Given the description of an element on the screen output the (x, y) to click on. 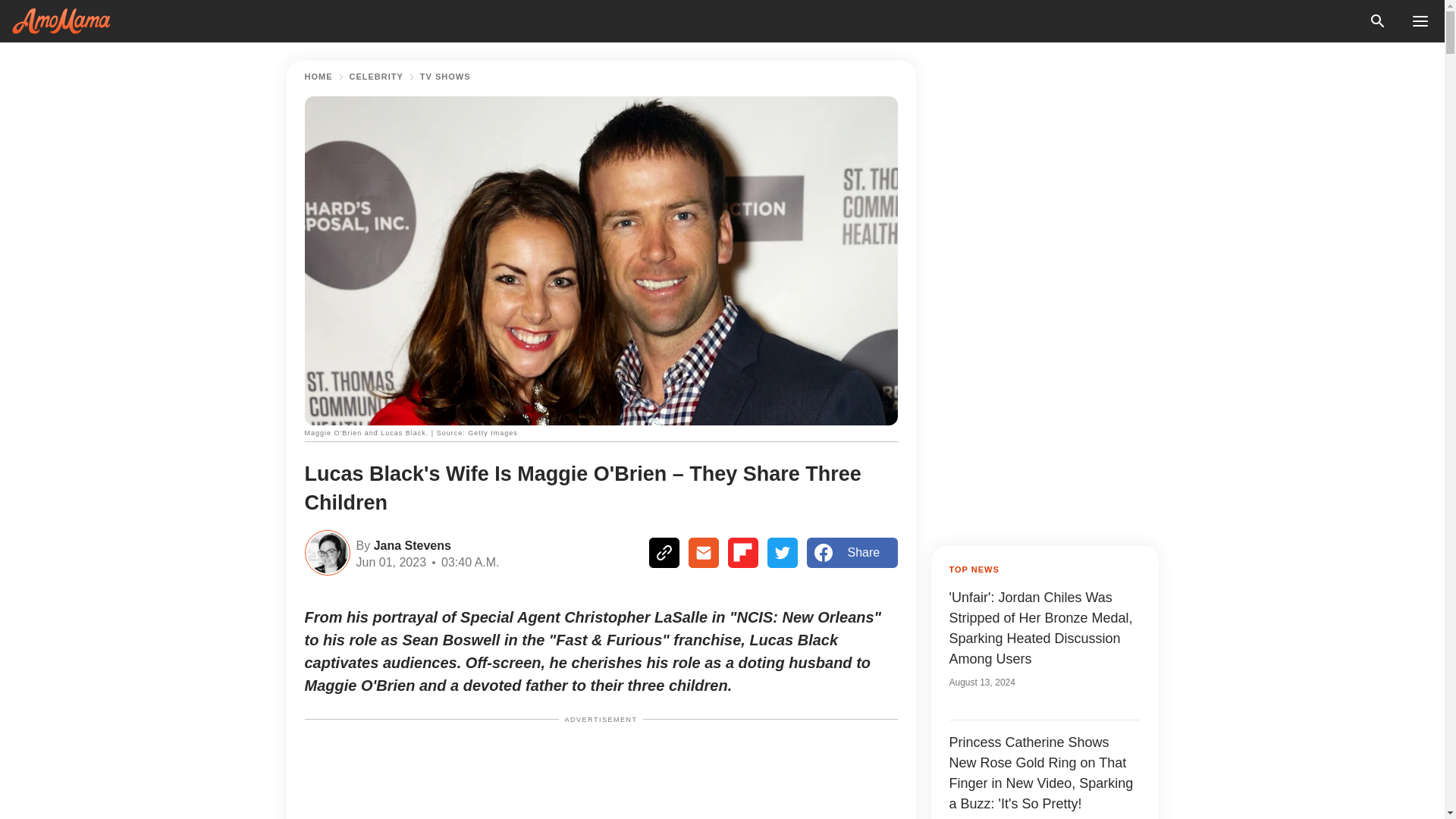
TV SHOWS (445, 76)
Jana Stevens (410, 544)
HOME (318, 76)
CELEBRITY (376, 76)
